Given the description of an element on the screen output the (x, y) to click on. 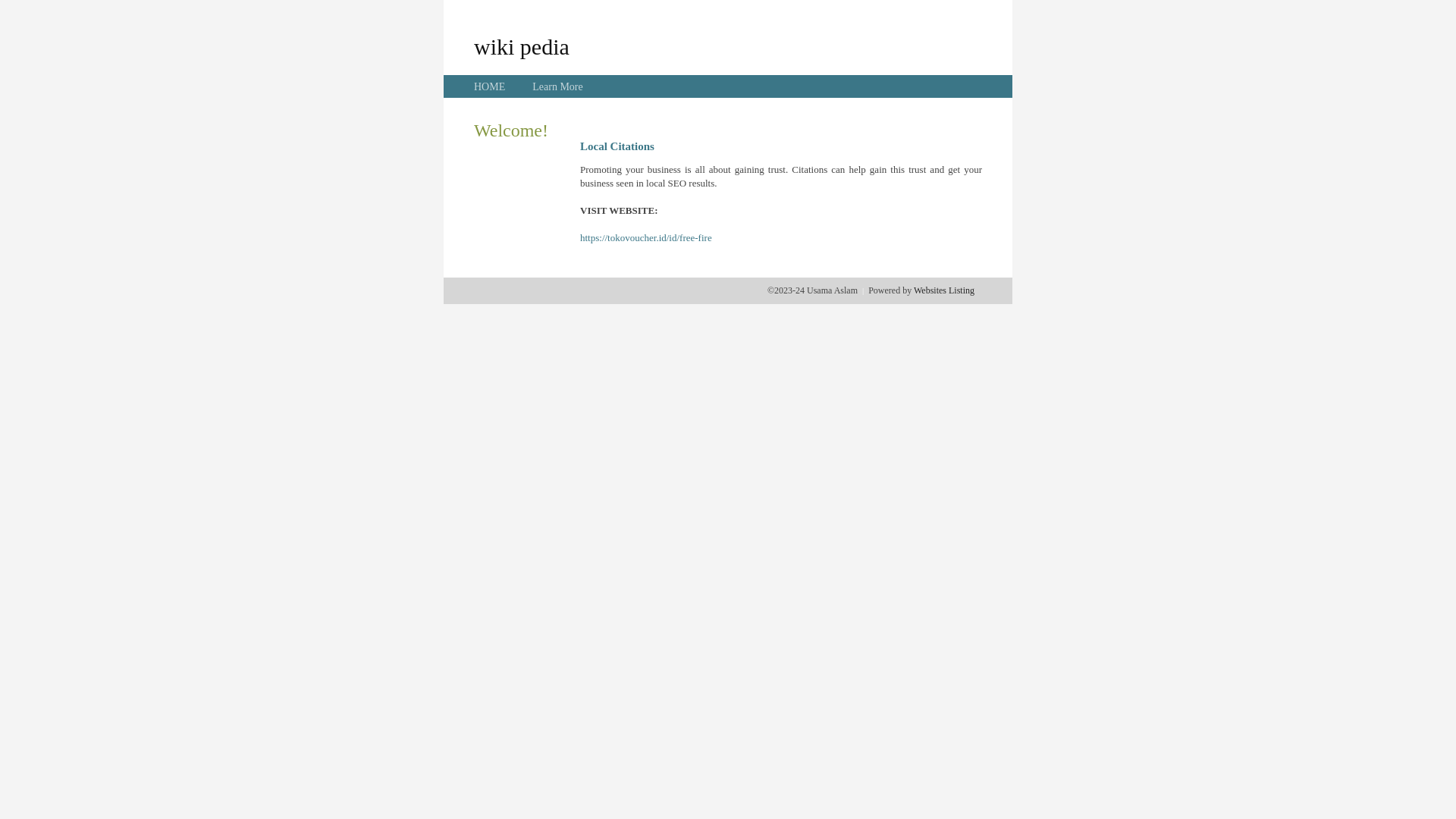
https://tokovoucher.id/id/free-fire Element type: text (646, 237)
Learn More Element type: text (557, 86)
wiki pedia Element type: text (521, 46)
Websites Listing Element type: text (943, 290)
HOME Element type: text (489, 86)
